Given the description of an element on the screen output the (x, y) to click on. 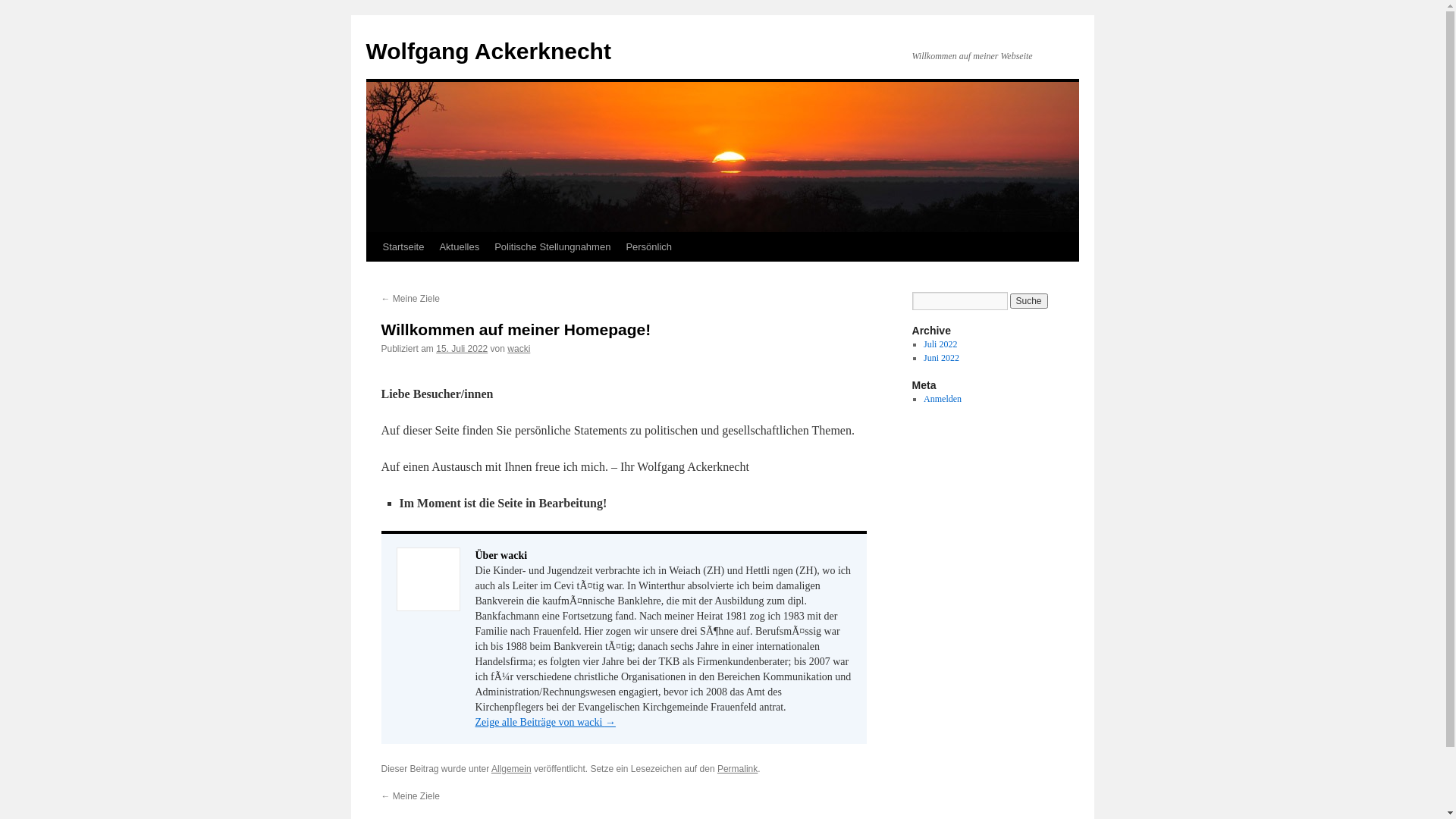
Permalink Element type: text (737, 768)
Startseite Element type: text (402, 246)
Aktuelles Element type: text (458, 246)
Wolfgang Ackerknecht Element type: text (487, 50)
Springe zum Inhalt Element type: text (372, 275)
Suche Element type: text (1029, 300)
Anmelden Element type: text (942, 398)
wacki Element type: text (518, 348)
Juni 2022 Element type: text (941, 357)
Juli 2022 Element type: text (940, 343)
15. Juli 2022 Element type: text (461, 348)
Politische Stellungnahmen Element type: text (552, 246)
Allgemein Element type: text (511, 768)
